Given the description of an element on the screen output the (x, y) to click on. 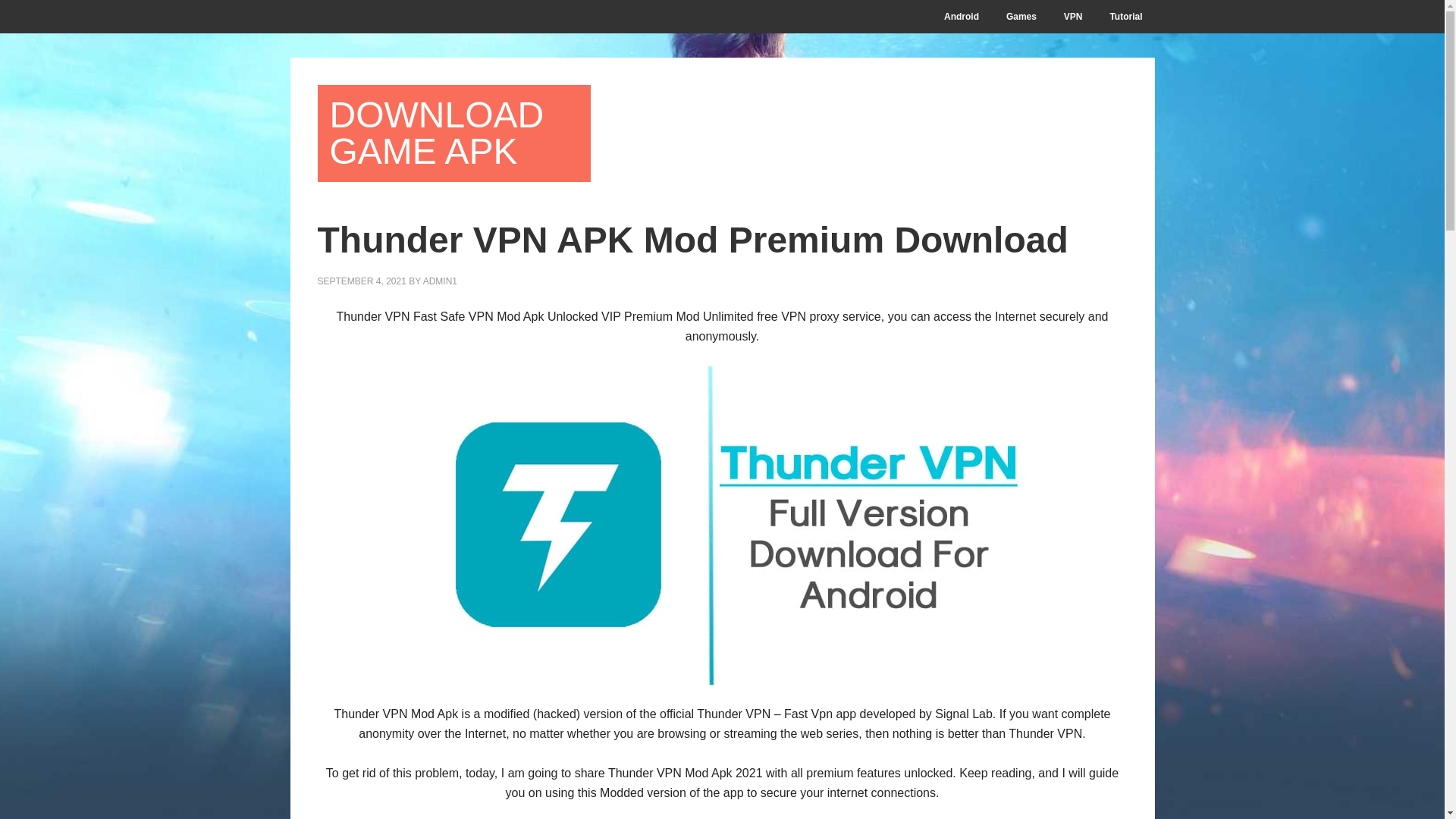
DOWNLOAD GAME APK (453, 133)
VPN (1072, 16)
Android (961, 16)
ADMIN1 (440, 281)
Games (1021, 16)
Tutorial (1125, 16)
